Given the description of an element on the screen output the (x, y) to click on. 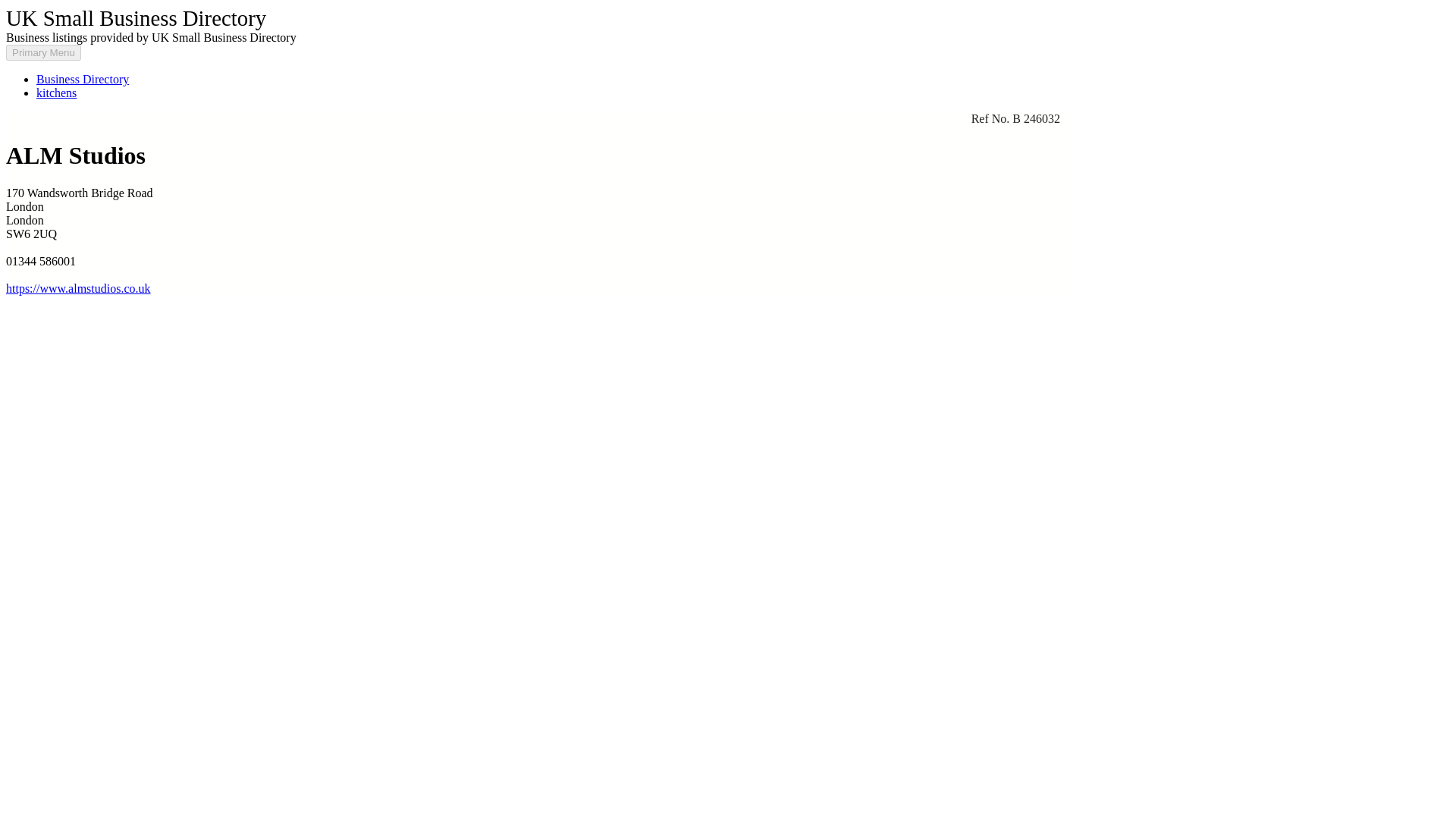
kitchens (56, 92)
Primary Menu (43, 52)
Business Directory (82, 78)
